Given the description of an element on the screen output the (x, y) to click on. 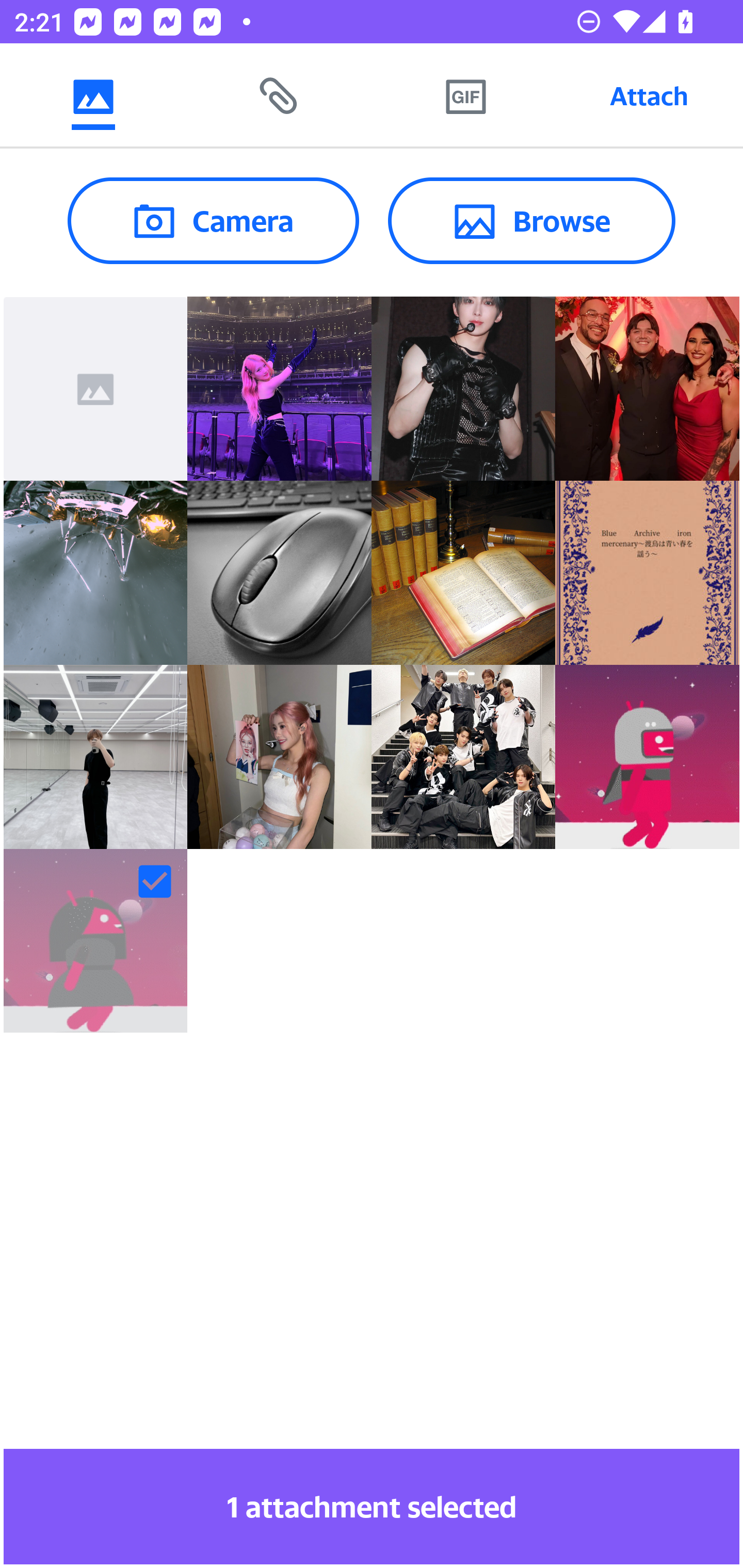
Camera photos (93, 95)
Recent attachments from mail (279, 95)
GIFs (465, 95)
Attach (649, 95)
Camera (212, 220)
Browse (531, 220)
1 attachment selected (371, 1506)
